Given the description of an element on the screen output the (x, y) to click on. 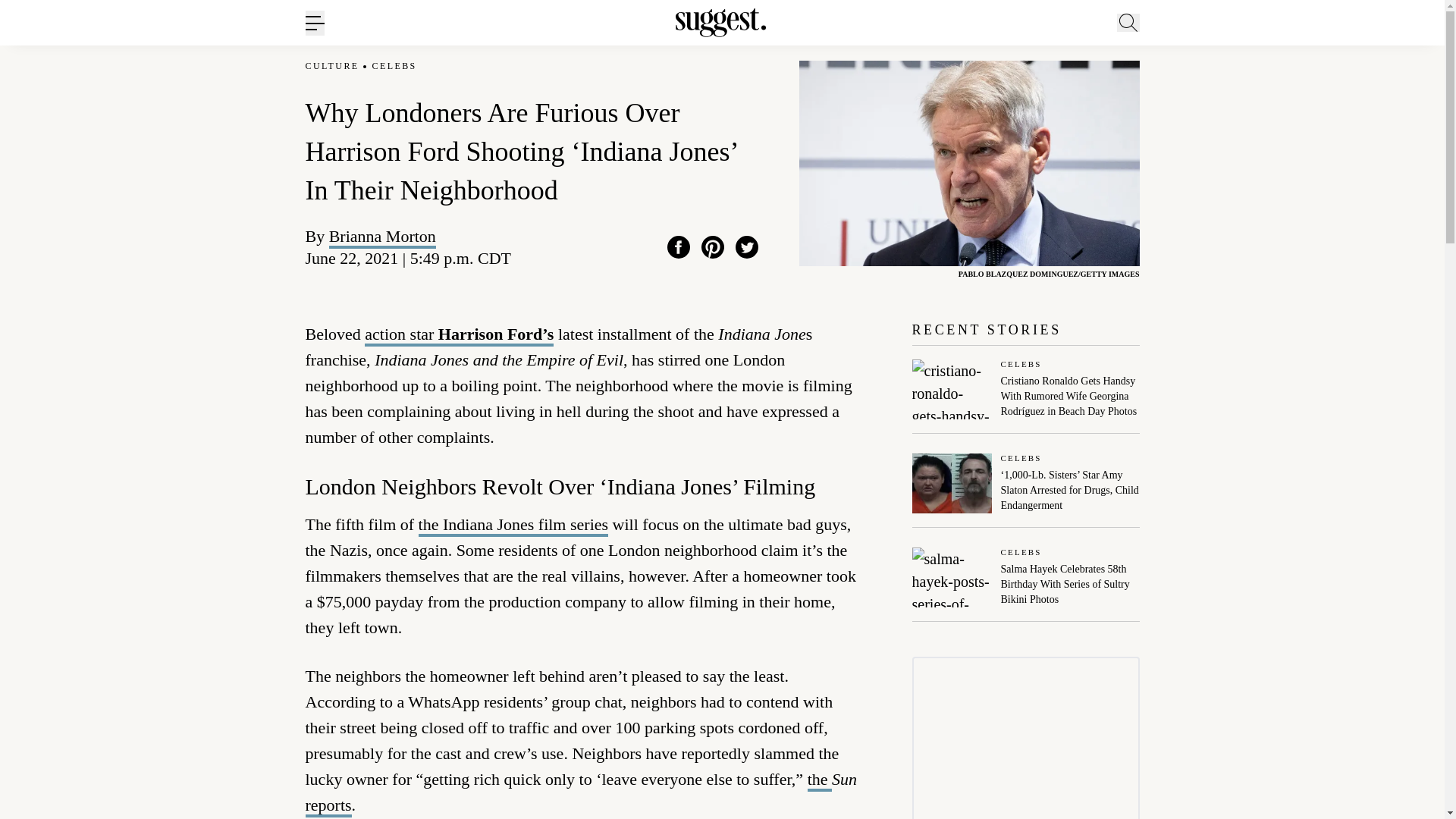
Brianna Morton (382, 236)
the Indiana Jones film series (513, 526)
the (819, 780)
Suggest (720, 22)
Sun (844, 778)
Celebs (1070, 365)
Celebs (1070, 459)
CULTURE (331, 66)
Facebook (678, 246)
Pinterest (712, 246)
